Given the description of an element on the screen output the (x, y) to click on. 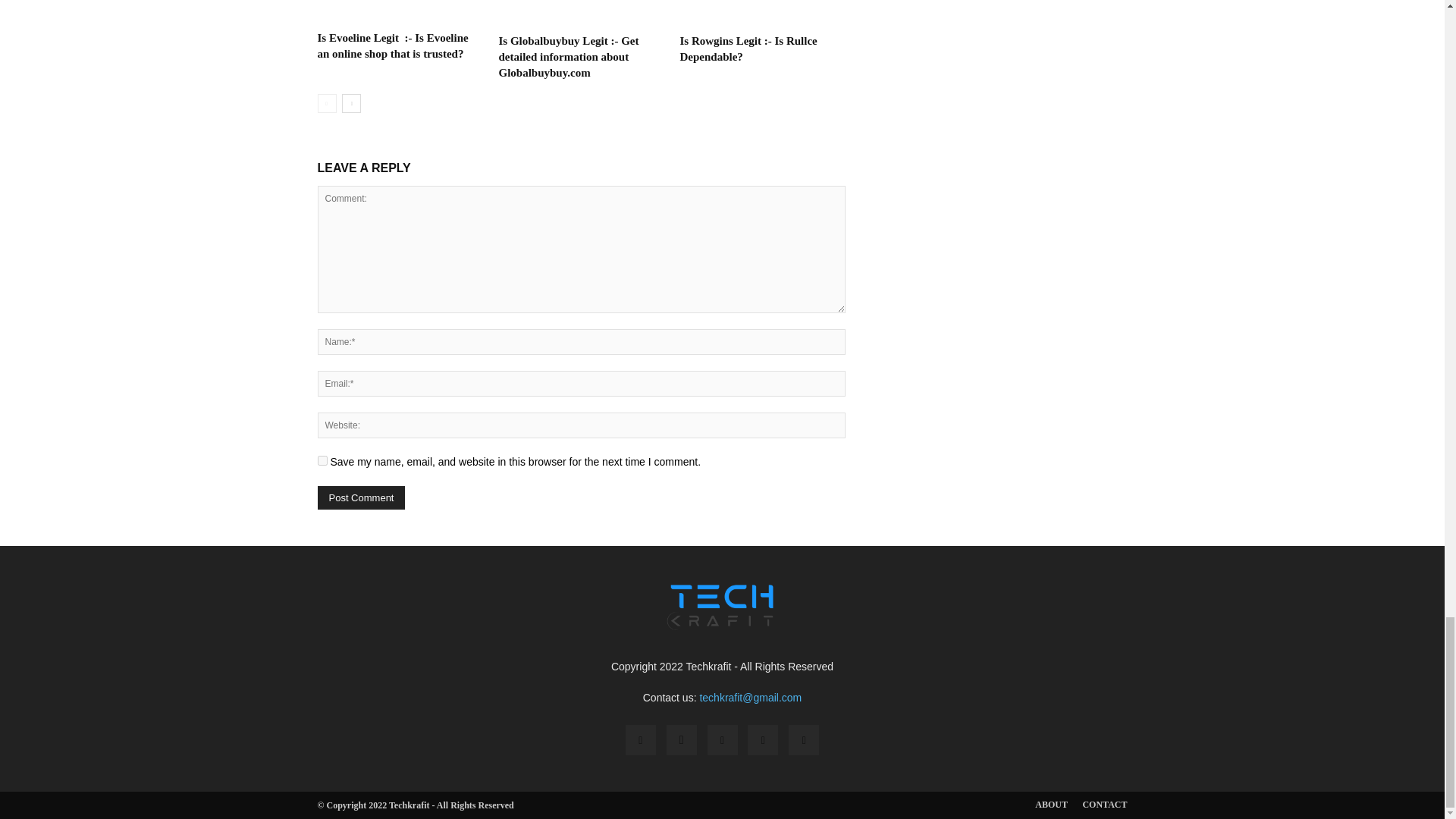
yes (321, 460)
Post Comment (360, 497)
